Given the description of an element on the screen output the (x, y) to click on. 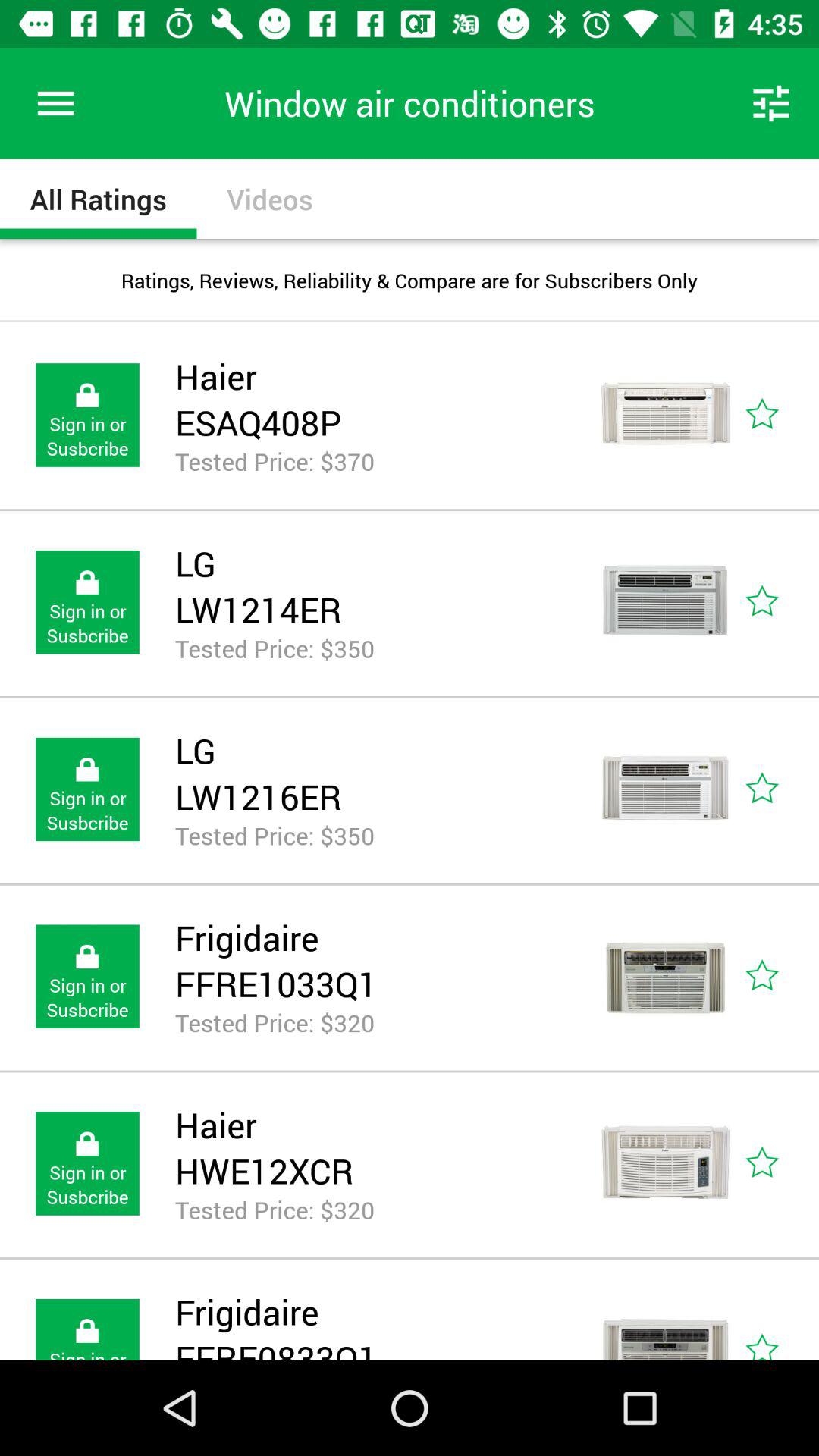
open item to the right of window air conditioners (771, 103)
